Given the description of an element on the screen output the (x, y) to click on. 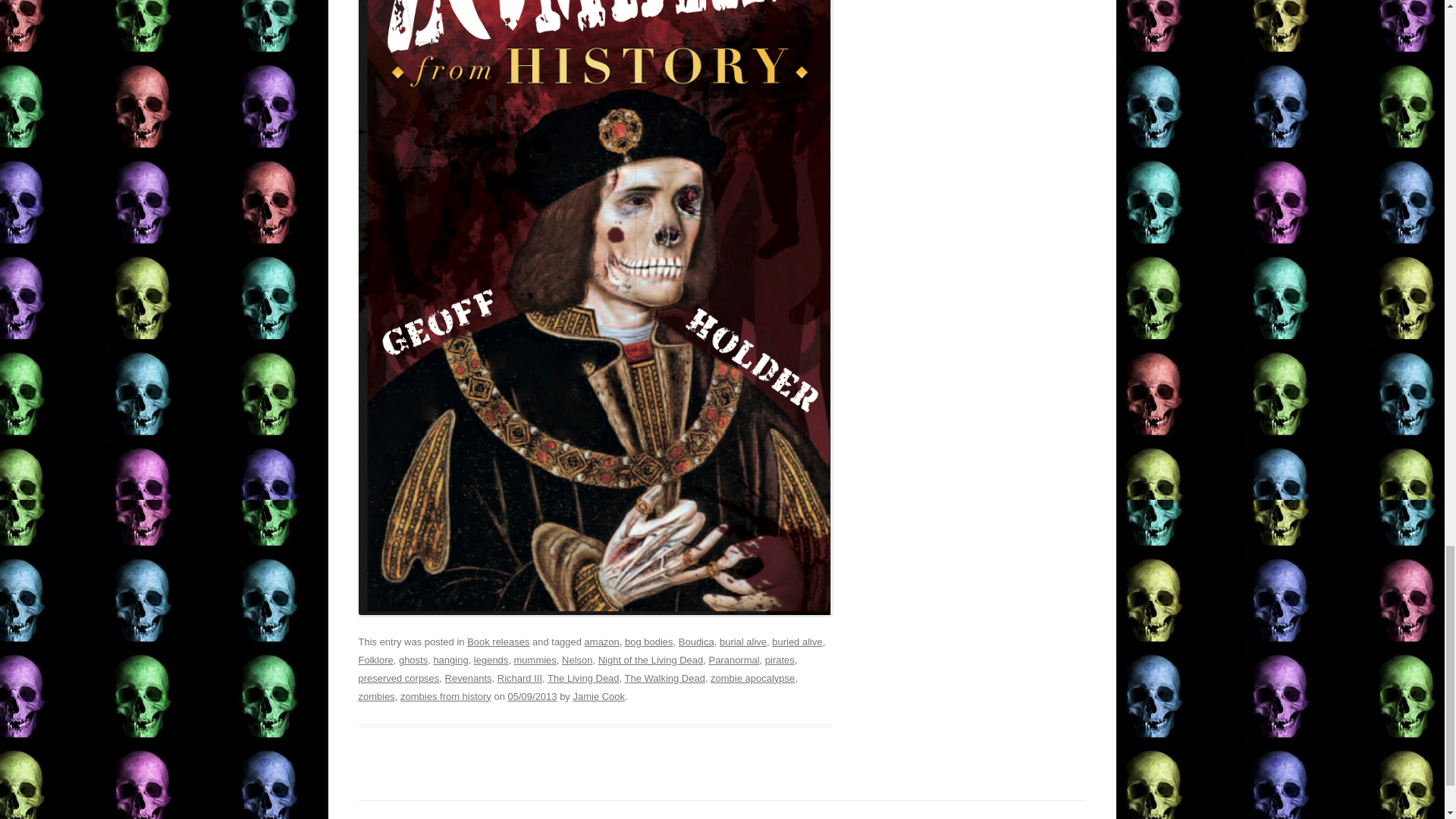
hanging (449, 659)
Nelson (577, 659)
Folklore (375, 659)
Richard III (519, 677)
pirates (779, 659)
burial alive (743, 641)
ghosts (413, 659)
bog bodies (648, 641)
Book releases (498, 641)
amazon (602, 641)
